Given the description of an element on the screen output the (x, y) to click on. 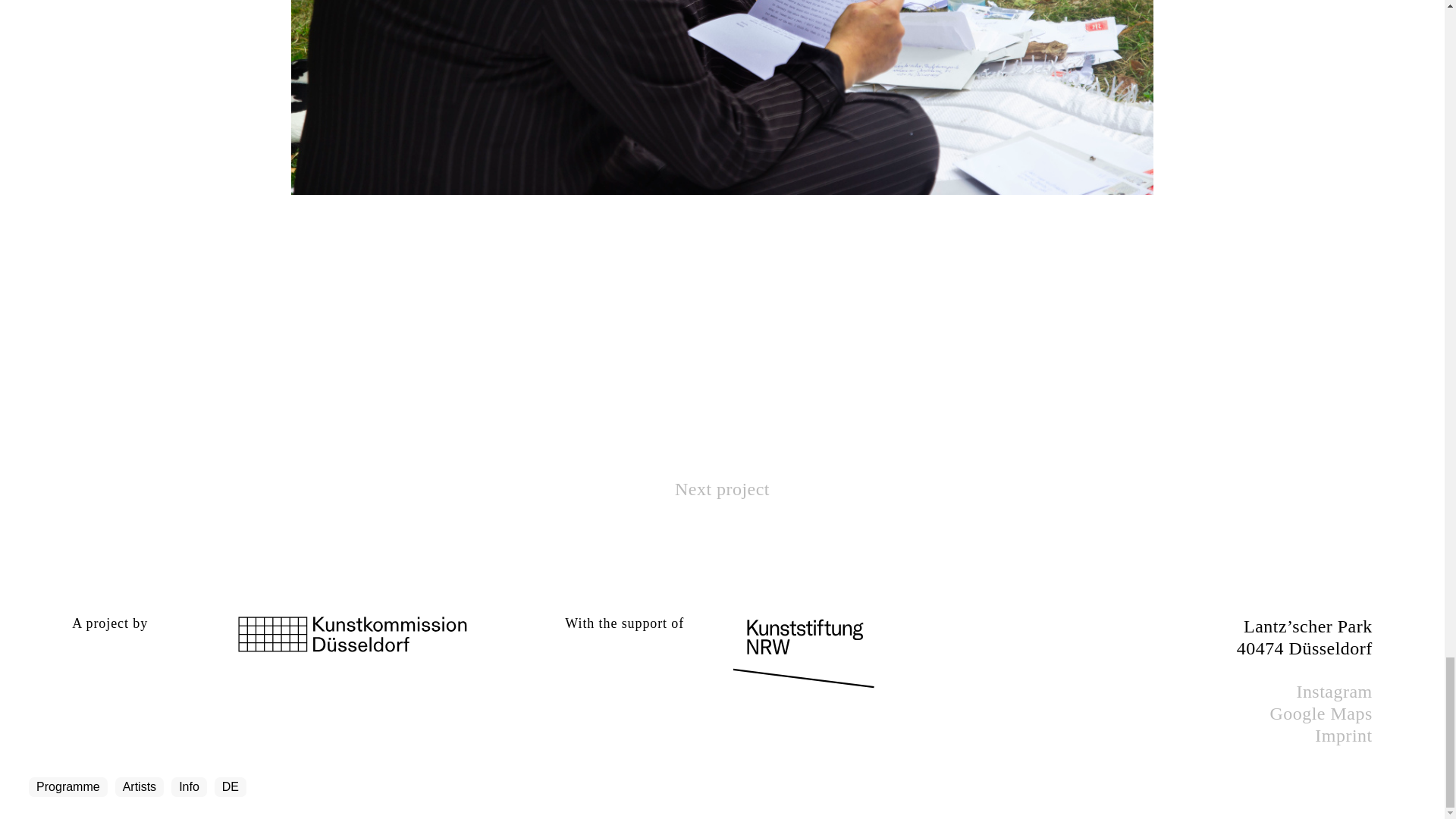
Instagram (1333, 691)
Google Maps (1320, 713)
Imprint (1342, 735)
Next project (722, 488)
